Given the description of an element on the screen output the (x, y) to click on. 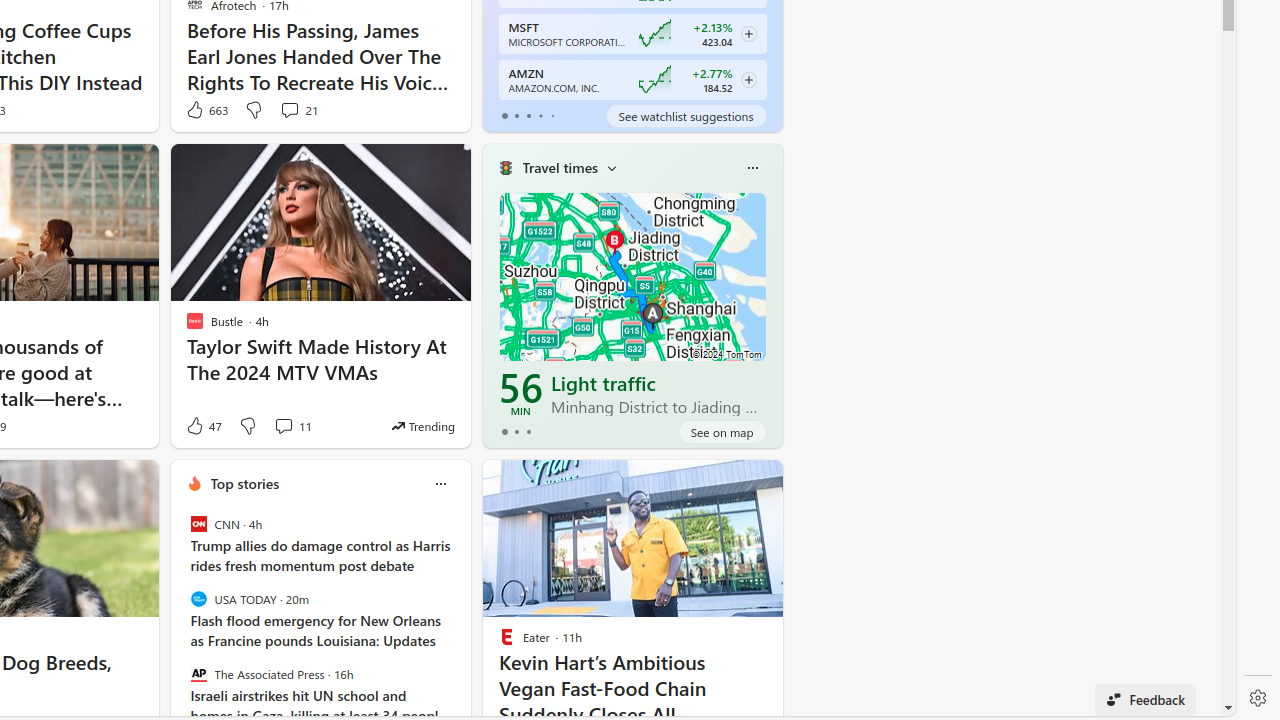
View comments 11 Comment Element type: push-button (283, 425)
Travel times Element type: link (560, 168)
Your Privacy Choices Element type: link (481, 703)
Feedback Element type: push-button (1145, 700)
tab-1 Element type: page-tab (516, 432)
